Given the description of an element on the screen output the (x, y) to click on. 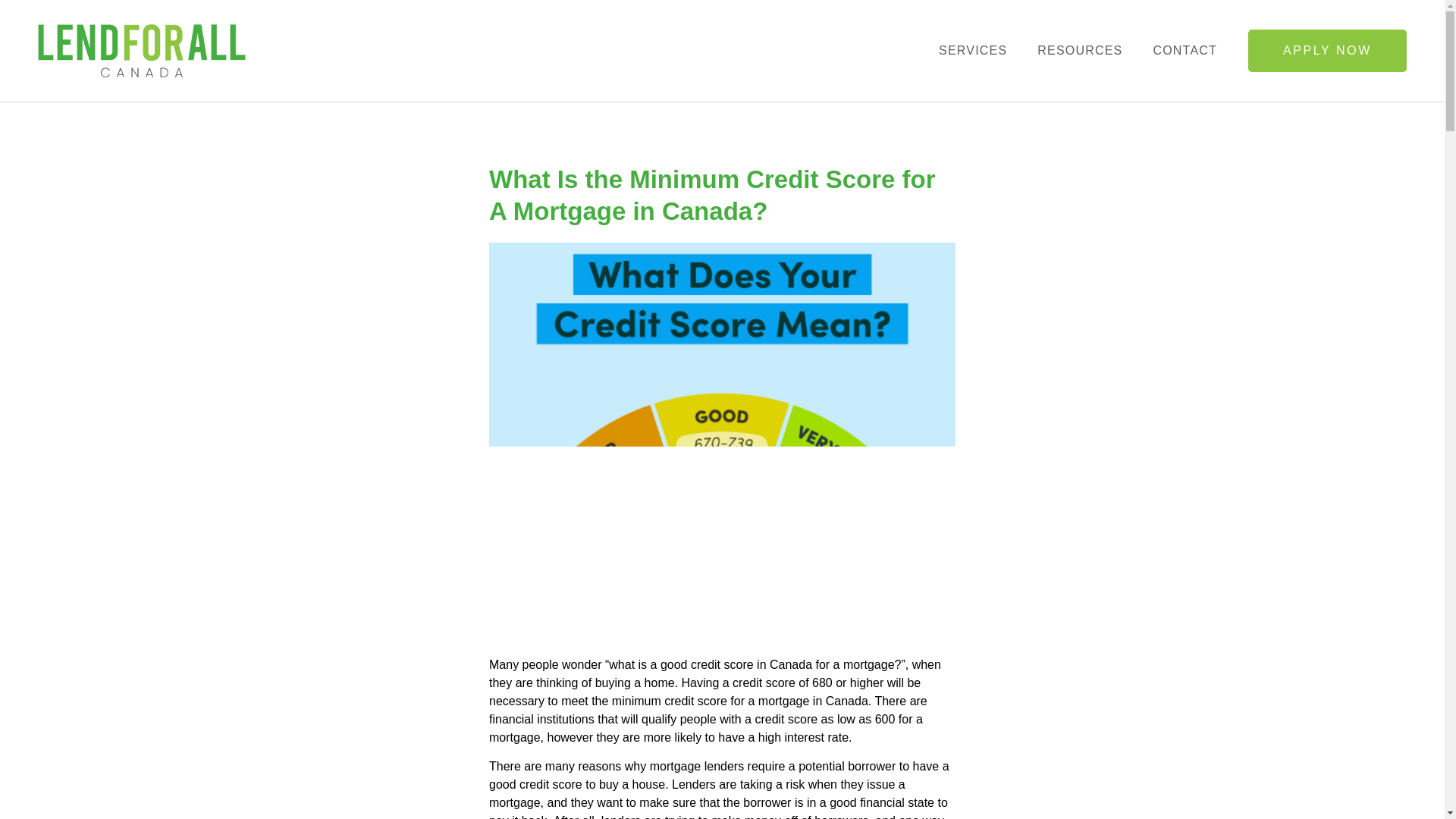
CONTACT (1185, 50)
SERVICES (973, 50)
RESOURCES (1079, 50)
